Given the description of an element on the screen output the (x, y) to click on. 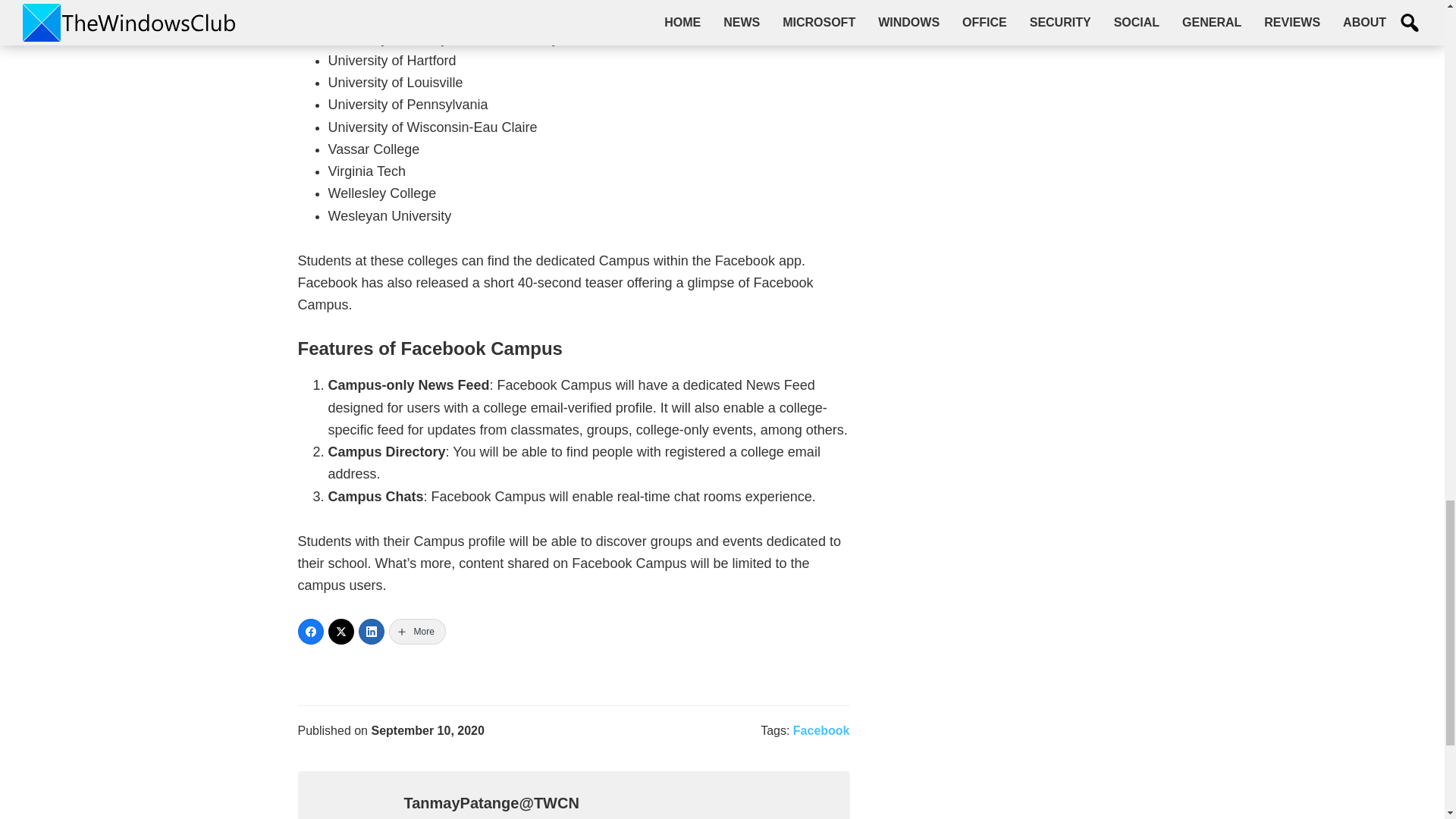
Facebook (821, 730)
More (416, 631)
